Given the description of an element on the screen output the (x, y) to click on. 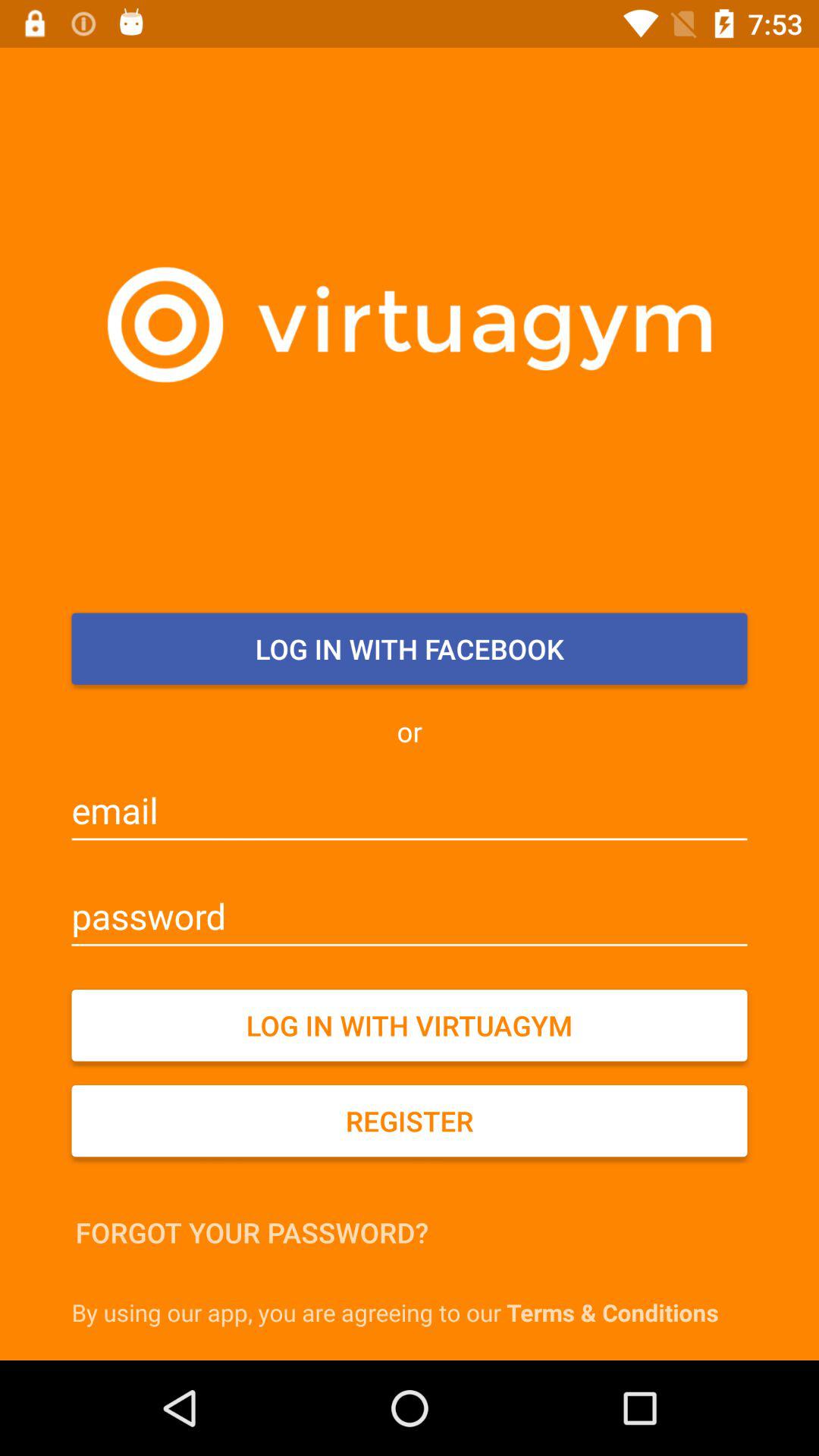
open the icon above the forgot your password? item (409, 1120)
